Given the description of an element on the screen output the (x, y) to click on. 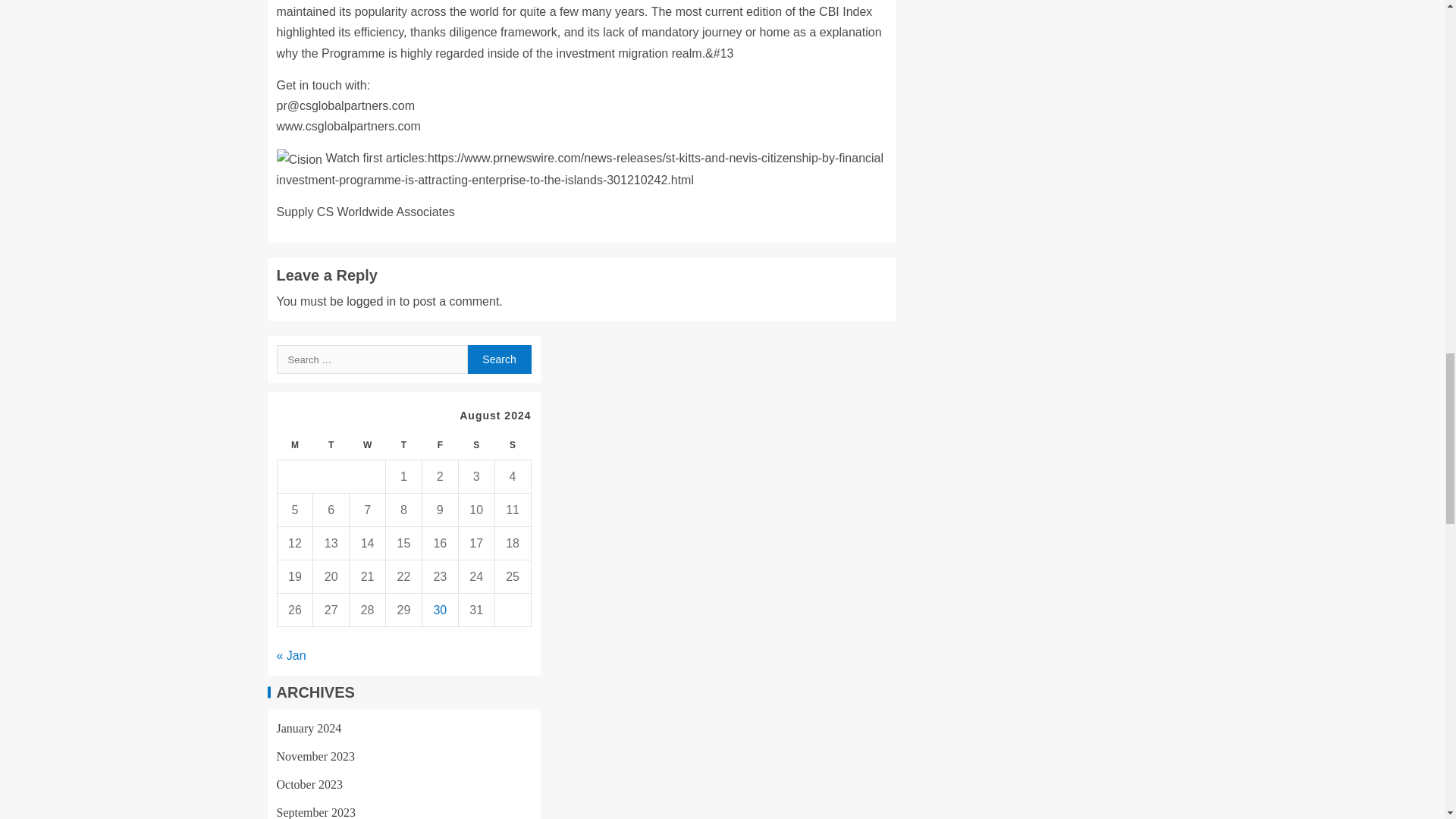
Saturday (476, 445)
November 2023 (315, 756)
Monday (294, 445)
Thursday (403, 445)
September 2023 (315, 812)
logged in (371, 300)
Search (499, 358)
Cision (298, 159)
January 2024 (308, 727)
Search (499, 358)
